Given the description of an element on the screen output the (x, y) to click on. 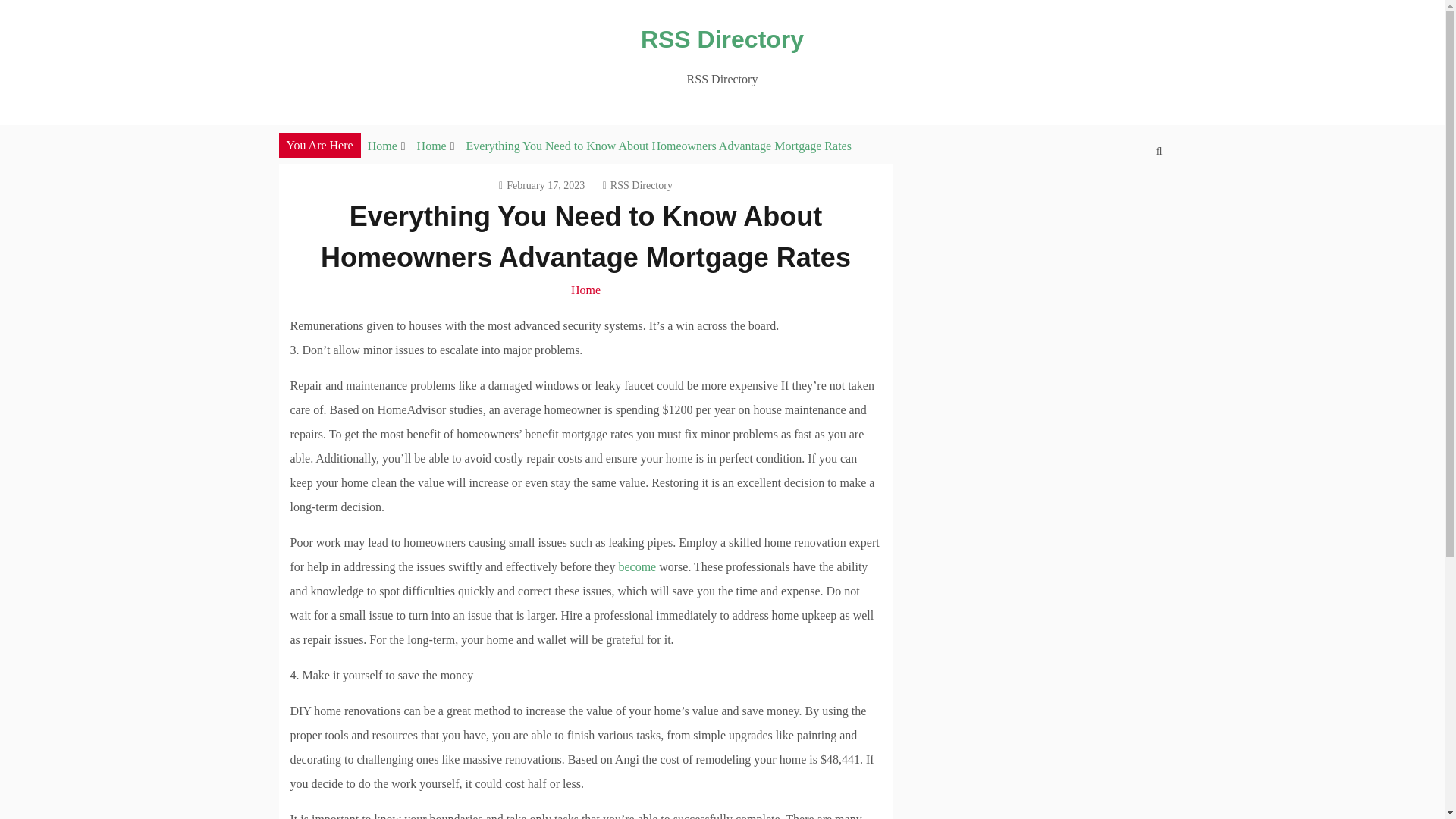
RSS Directory (721, 39)
become (636, 566)
Home (382, 145)
February 17, 2023 (542, 184)
Home (431, 145)
Home (584, 289)
RSS Directory (637, 184)
